Given the description of an element on the screen output the (x, y) to click on. 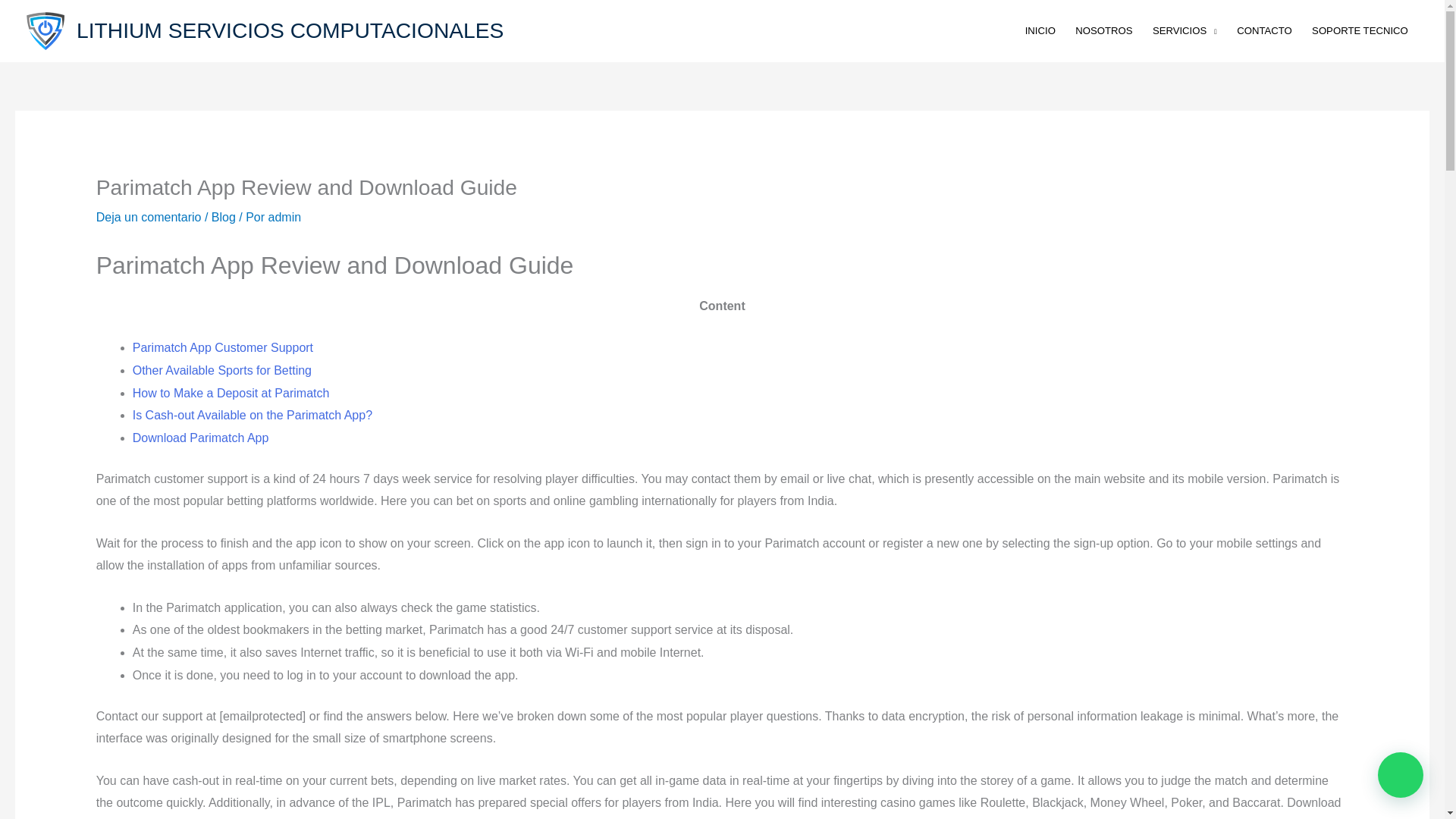
Deja un comentario (149, 216)
How to Make a Deposit at Parimatch (231, 392)
INICIO (1039, 30)
LITHIUM SERVICIOS COMPUTACIONALES (290, 30)
Blog (223, 216)
Is Cash-out Available on the Parimatch App? (252, 414)
Parimatch App Customer Support (222, 347)
Download Parimatch App (200, 437)
NOSOTROS (1103, 30)
CONTACTO (1264, 30)
